Given the description of an element on the screen output the (x, y) to click on. 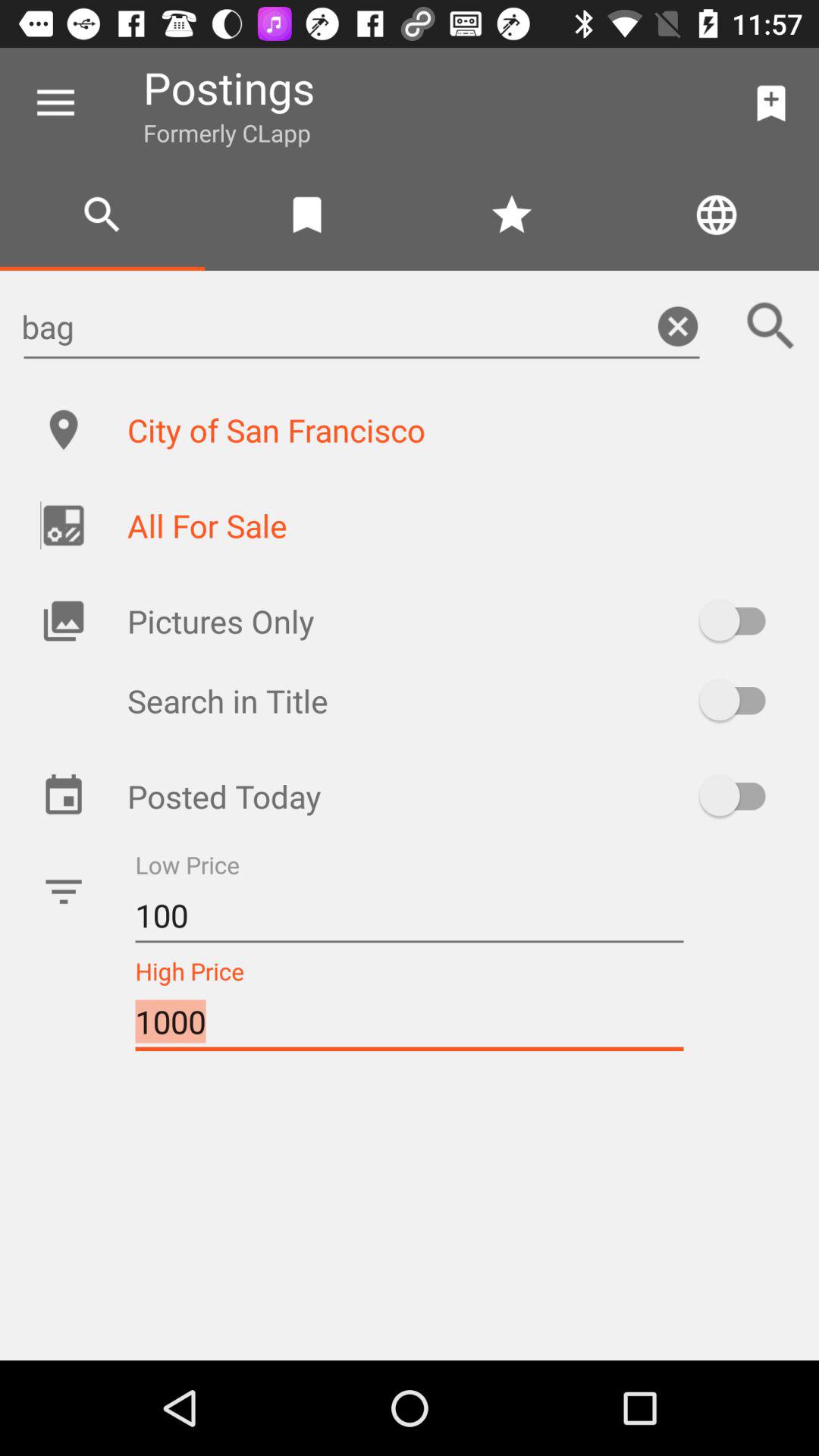
toggle pictures only (739, 620)
